Given the description of an element on the screen output the (x, y) to click on. 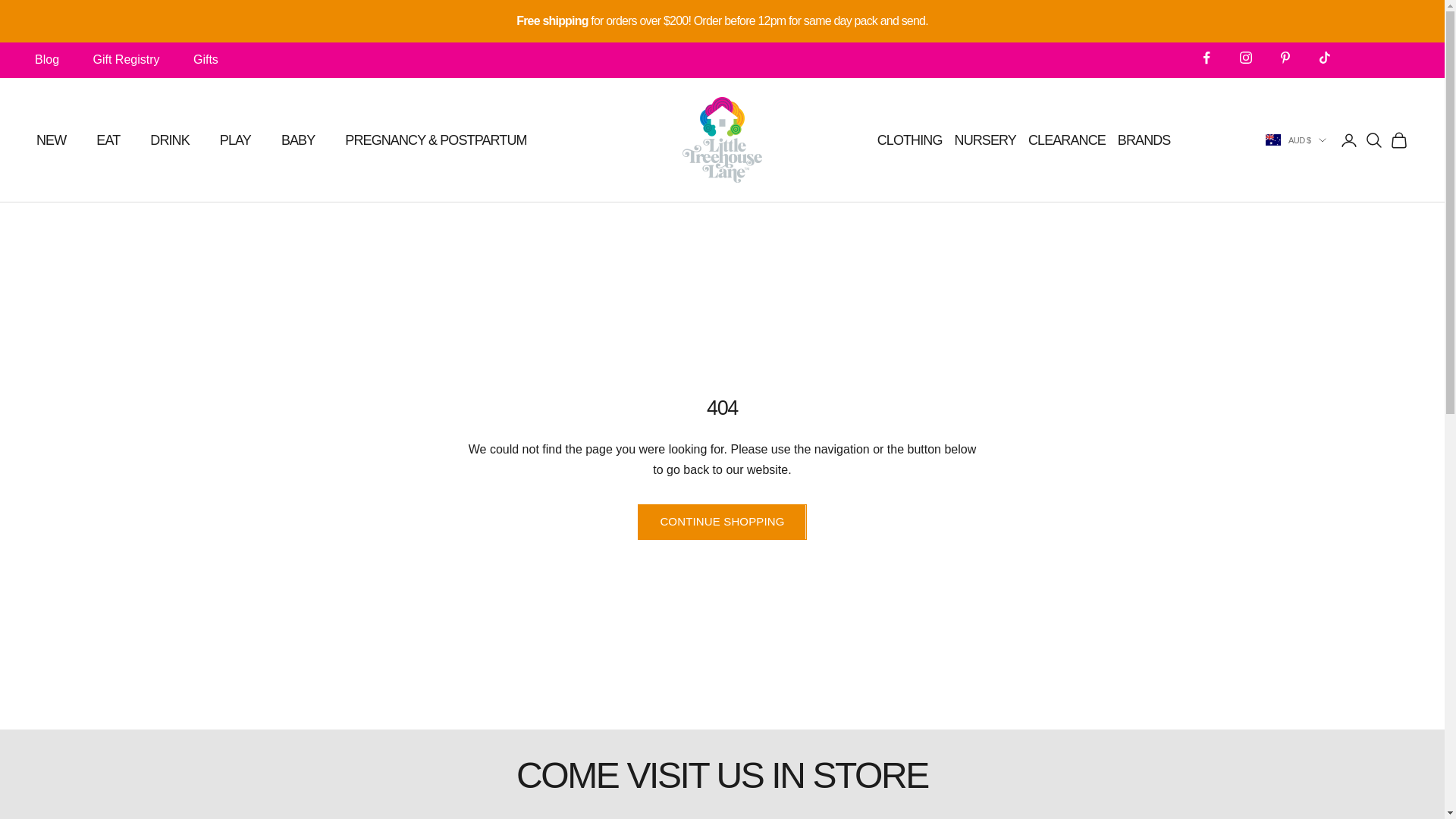
Gifts (205, 59)
Little Treehouse Lane (721, 139)
Gift Registry (125, 59)
NEW (50, 140)
Blog (46, 59)
